Given the description of an element on the screen output the (x, y) to click on. 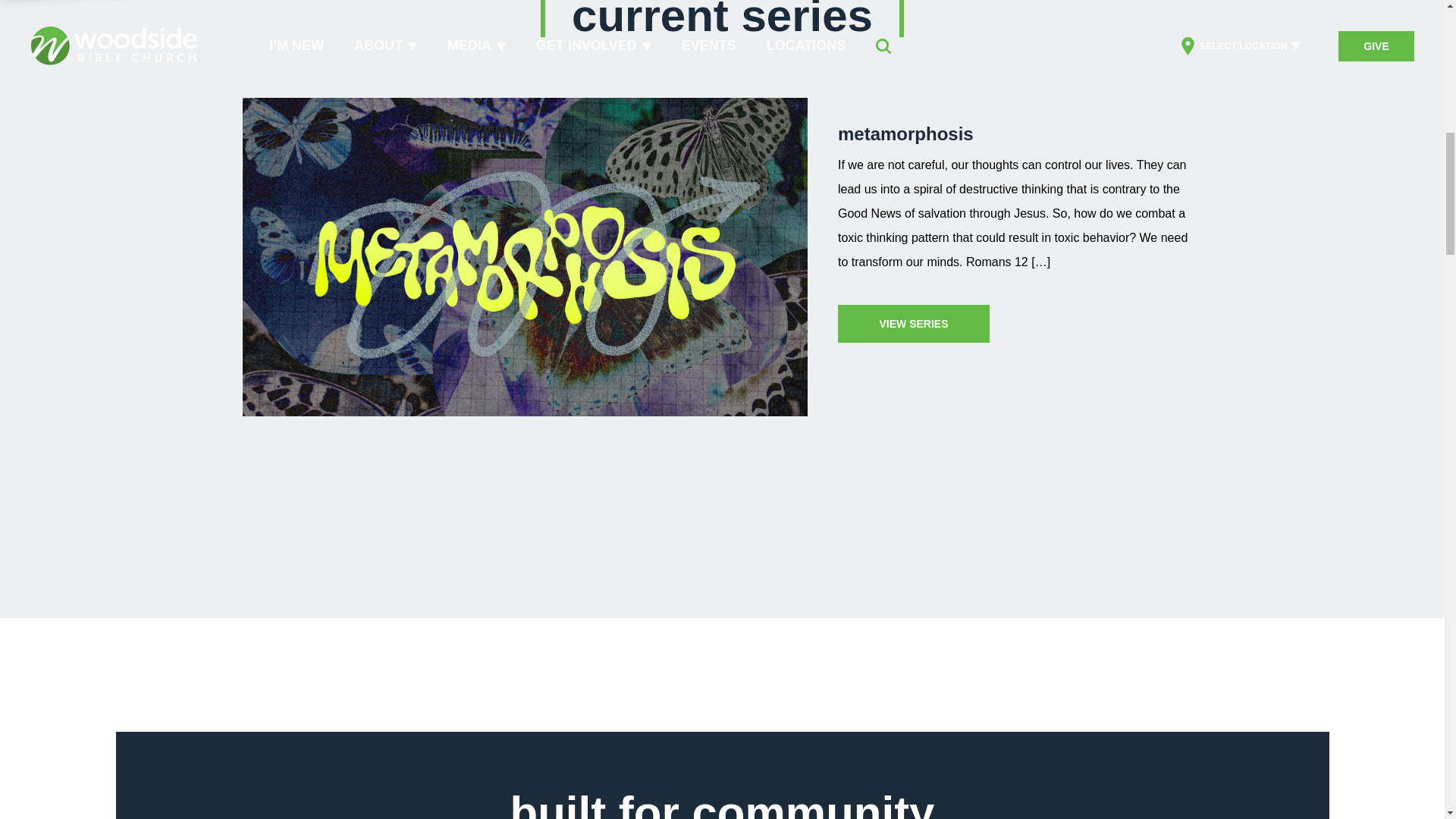
VIEW SERIES (914, 323)
Listen on Apple Podcasts (917, 395)
Listen on Google Podcasts (917, 446)
Listen on Spotify (917, 495)
